Given the description of an element on the screen output the (x, y) to click on. 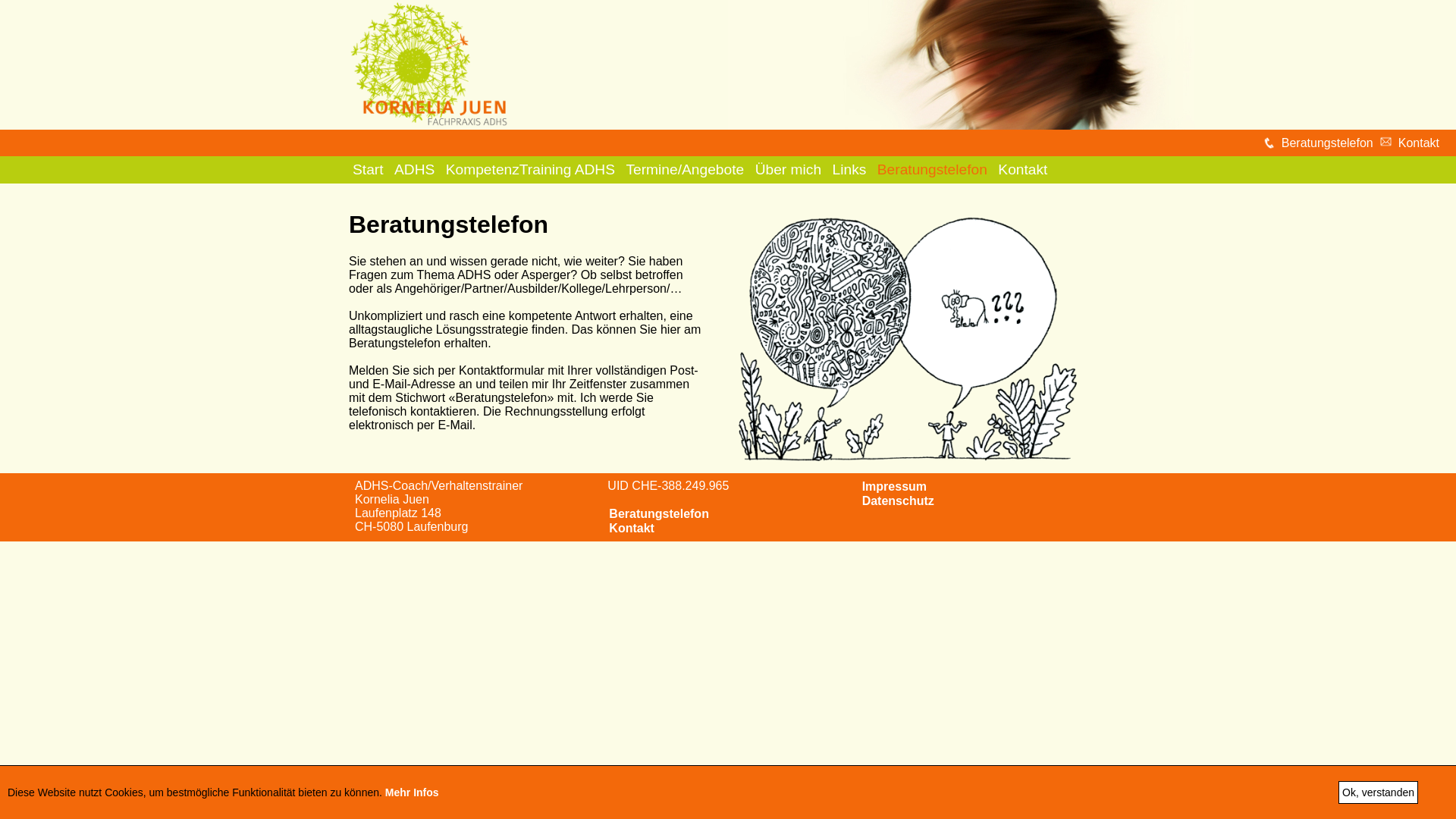
Datenschutz Element type: text (897, 500)
Kontakt Element type: text (1022, 169)
Termine/Angebote Element type: text (684, 169)
Impressum Element type: text (894, 486)
Kontakt ADHS- Coach Kornelia Juen Element type: hover (1385, 140)
Mehr Infos Element type: text (412, 792)
Beratungstelefon Element type: text (932, 169)
Kontakt Element type: text (631, 528)
ADHS- Coach Kornelia Juen Element type: hover (428, 64)
KompetenzTraining ADHS Element type: text (530, 169)
Beratungstelefon ADHS- Coach Kornelia Juen Element type: hover (1268, 142)
Links Element type: text (849, 169)
ADHS- Coach Kornelia Juen Element type: hover (961, 64)
ADHS Element type: text (414, 169)
Beratungstelefon Element type: text (658, 513)
Kontakt Element type: text (1418, 142)
Beratungstelefon Element type: text (1327, 142)
Ok, verstanden Element type: text (1378, 792)
Start Element type: text (367, 169)
